Given the description of an element on the screen output the (x, y) to click on. 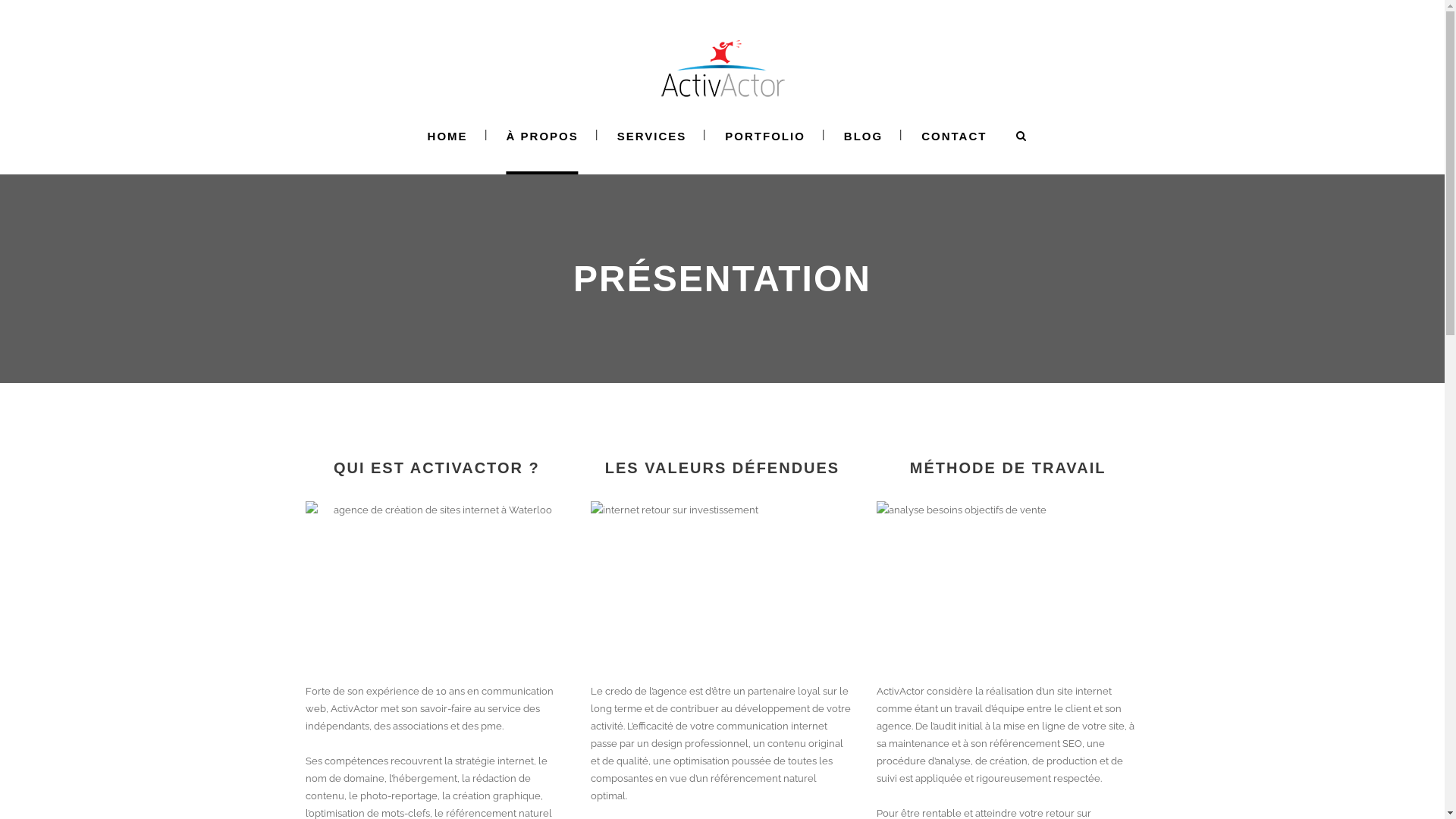
Maintenances techniques et de contenus Element type: text (827, 599)
Facebook Element type: text (981, 556)
Les voeux 2020 du client De Maurissens Element type: text (827, 564)
CONTACT Element type: text (953, 135)
HOME Element type: text (447, 135)
SERVICES Element type: text (652, 135)
Patrick van Tuyn, manager d'ActivActor. Element type: hover (435, 582)
BLOG Element type: text (862, 135)
PORTFOLIO Element type: text (764, 135)
